Given the description of an element on the screen output the (x, y) to click on. 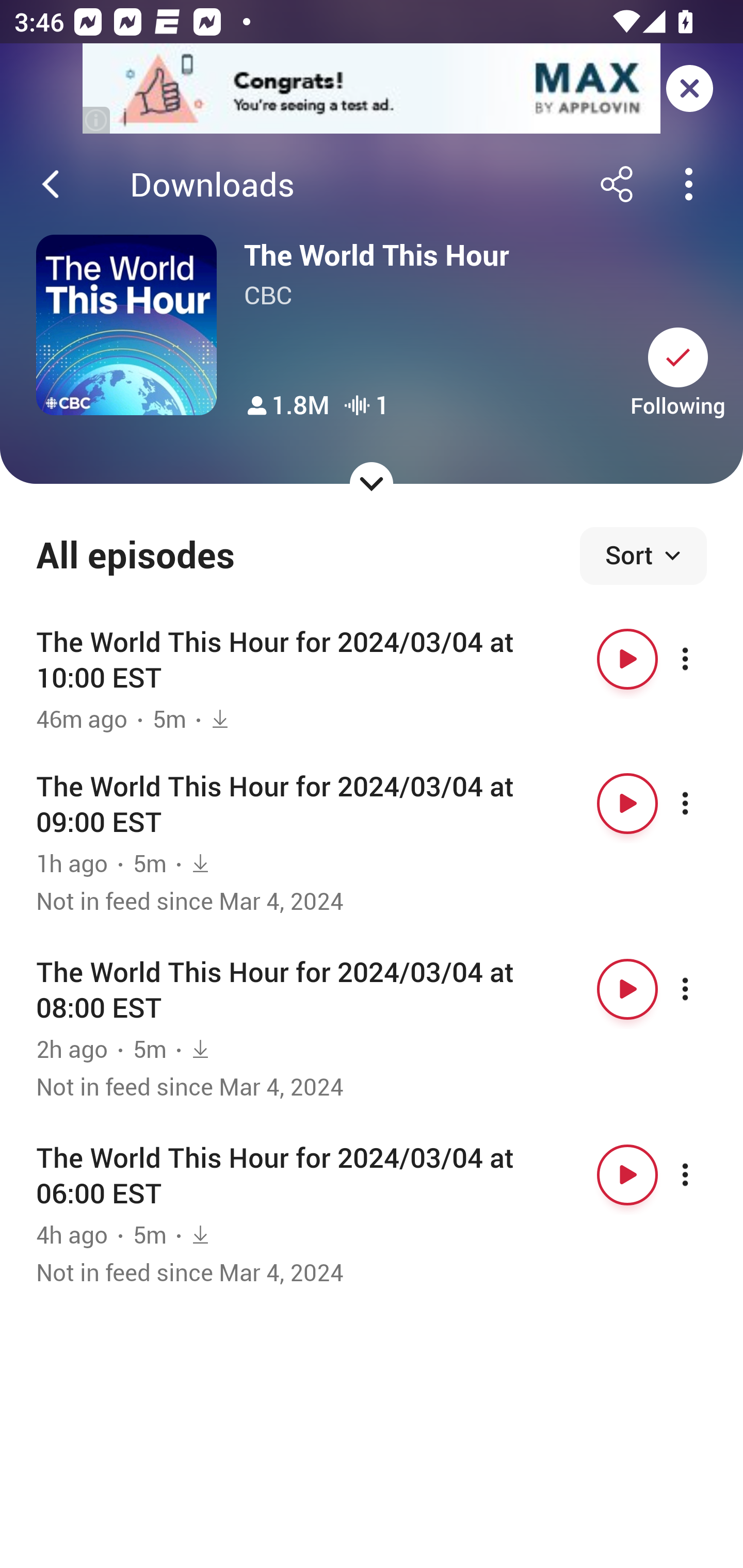
app-monetization (371, 88)
(i) (96, 119)
Back (50, 184)
Unsubscribe button (677, 357)
Sort episodes Sort (643, 555)
Play button (627, 659)
More options (703, 659)
Play button (627, 803)
More options (703, 803)
Play button (627, 989)
More options (703, 989)
Play button (627, 1175)
More options (703, 1175)
